Given the description of an element on the screen output the (x, y) to click on. 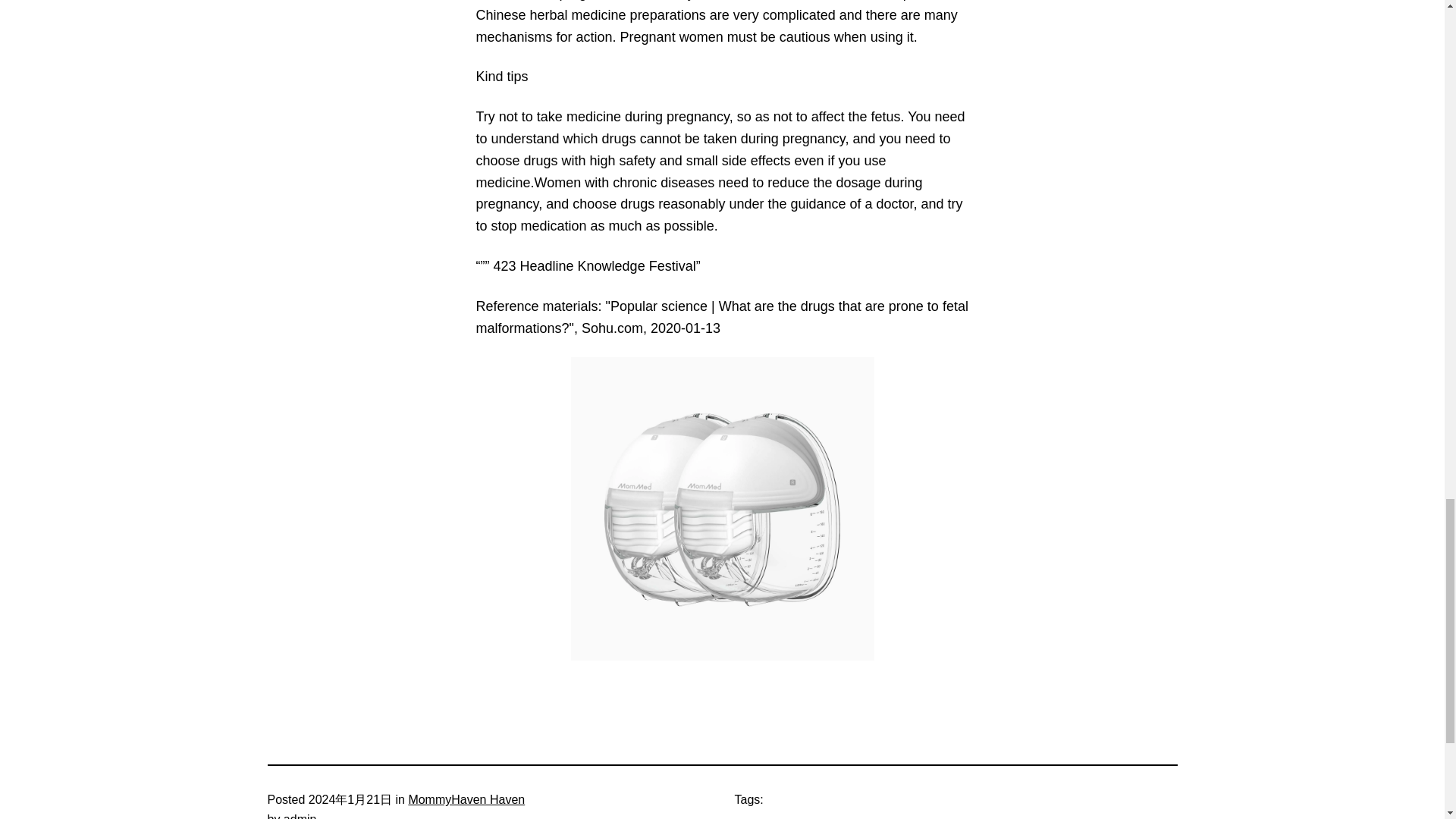
MommyHaven Haven (465, 799)
